Given the description of an element on the screen output the (x, y) to click on. 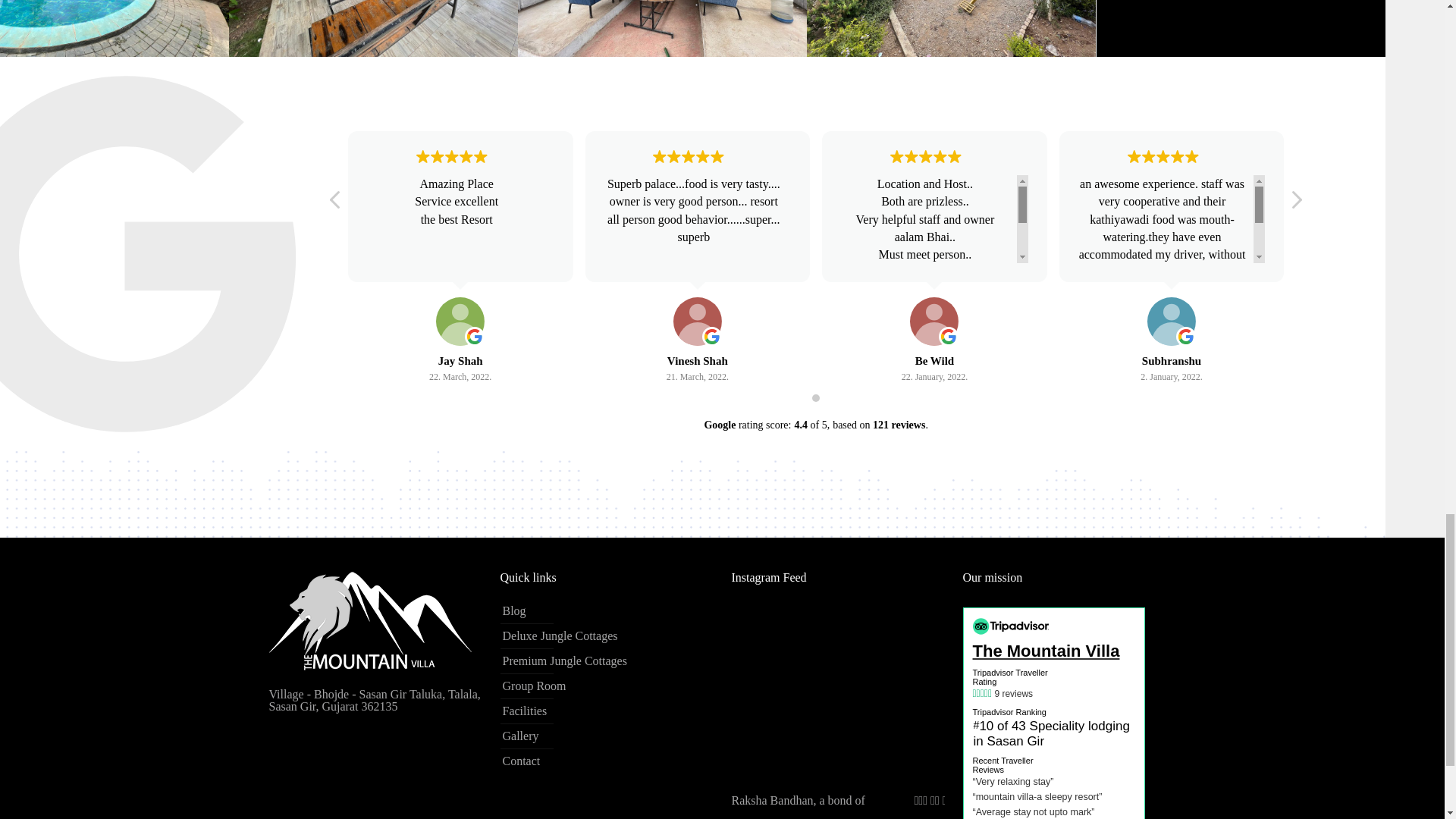
Blog (603, 611)
